Given the description of an element on the screen output the (x, y) to click on. 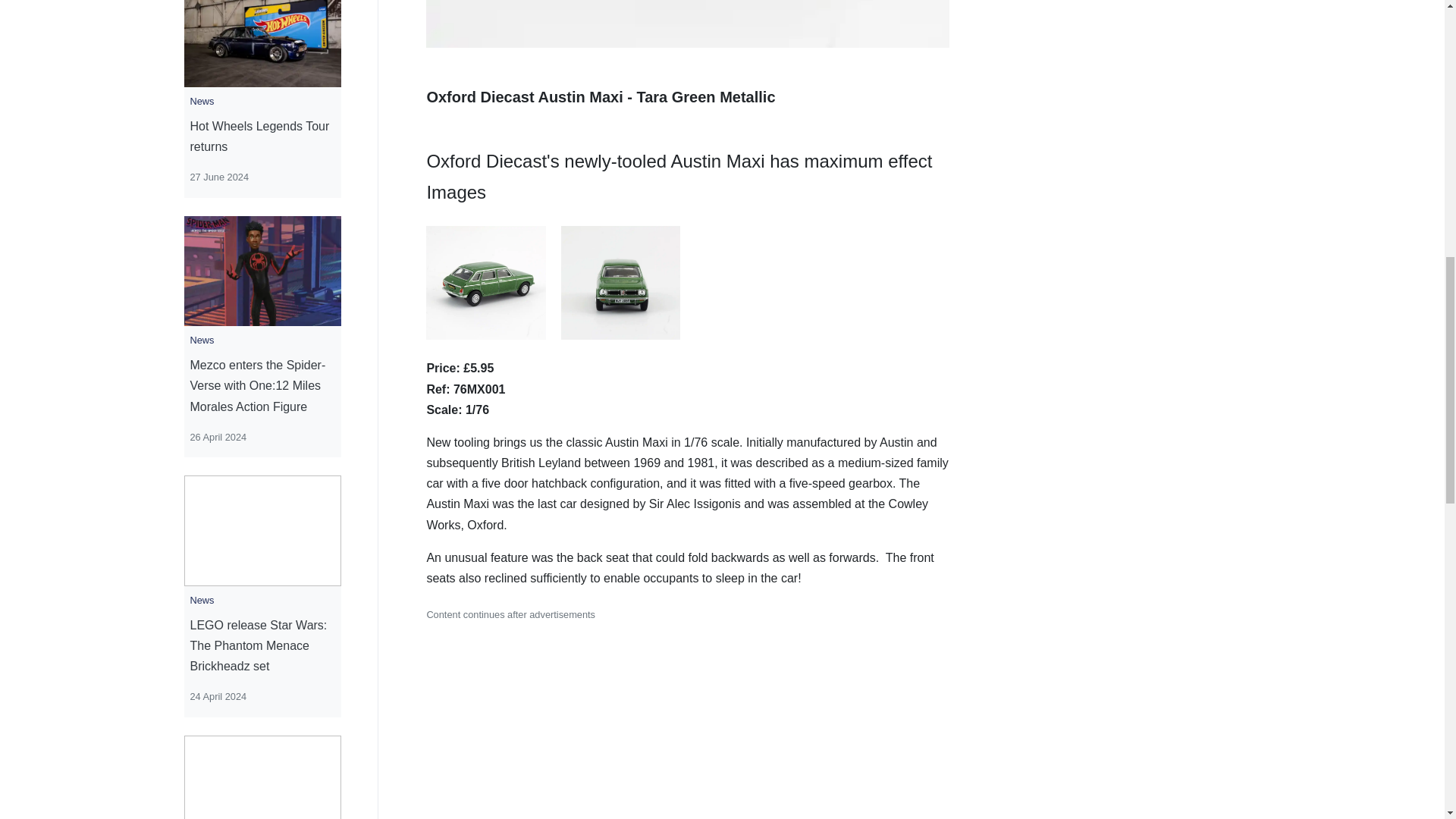
Oxford Diecast Austin Maxi - Tara Green Metallic 3 (619, 282)
Oxford Diecast Austin Maxi - Tara Green Metallic 2 (485, 282)
Hot Wheels Legends Tour returns (261, 136)
LEGO release Star Wars: The Phantom Menace Brickheadz set (261, 646)
